Given the description of an element on the screen output the (x, y) to click on. 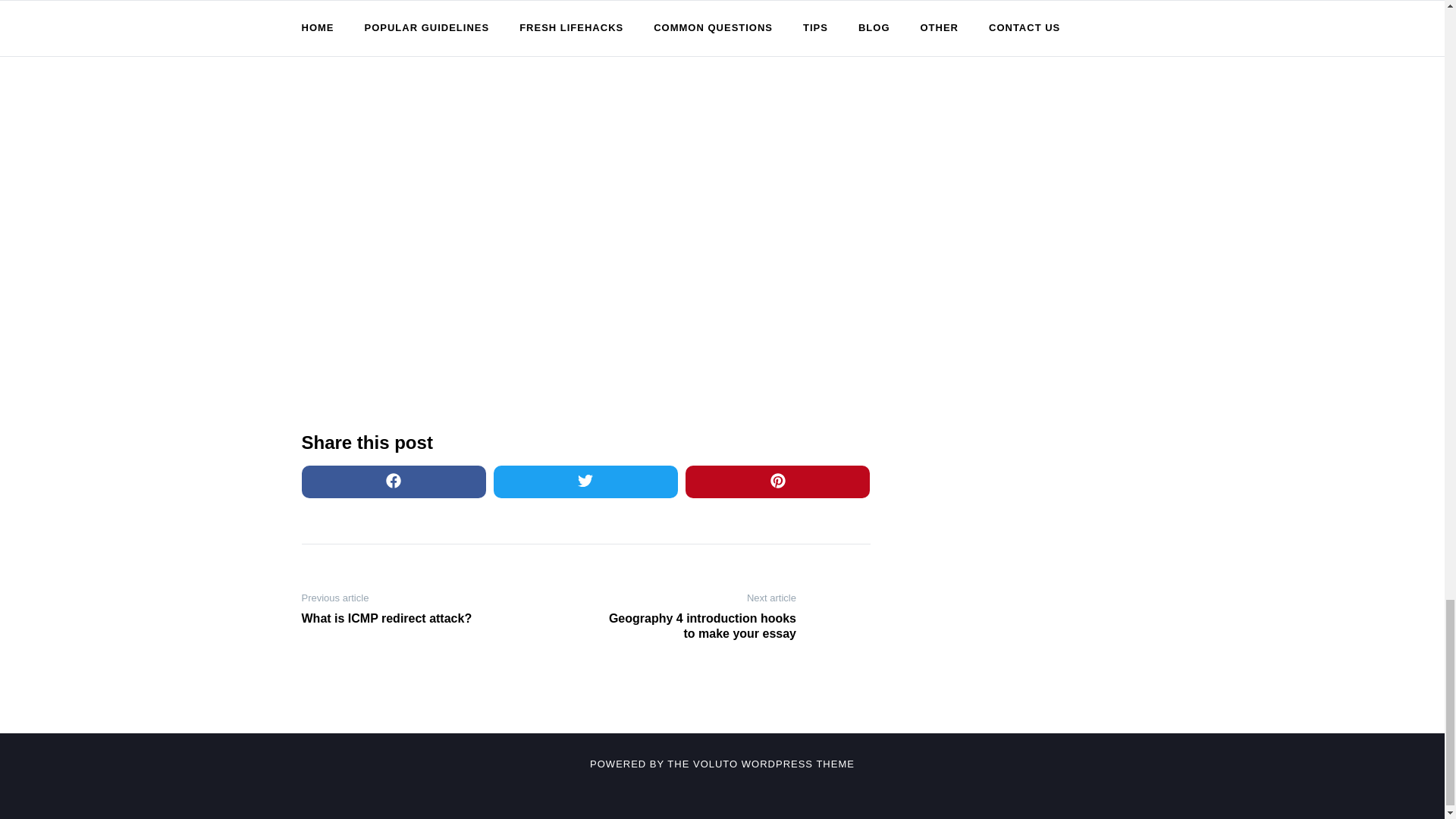
VOLUTO (715, 763)
What is ICMP redirect attack? (400, 618)
Geography 4 introduction hooks to make your essay (696, 626)
